Given the description of an element on the screen output the (x, y) to click on. 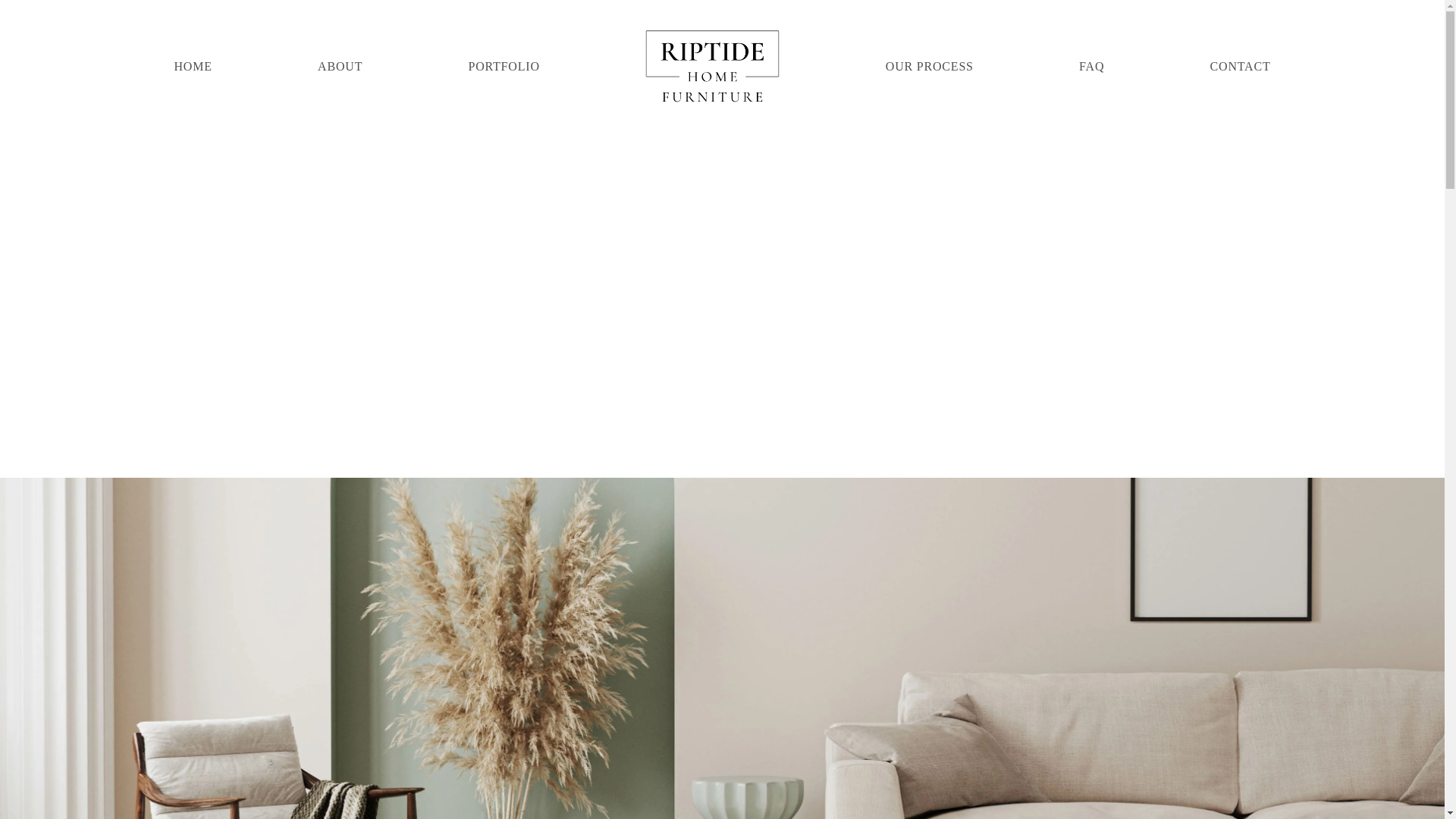
ABOUT (339, 66)
FAQ (1090, 66)
HOME (192, 66)
OUR PROCESS (930, 66)
PORTFOLIO (503, 66)
CONTACT (1240, 66)
